Given the description of an element on the screen output the (x, y) to click on. 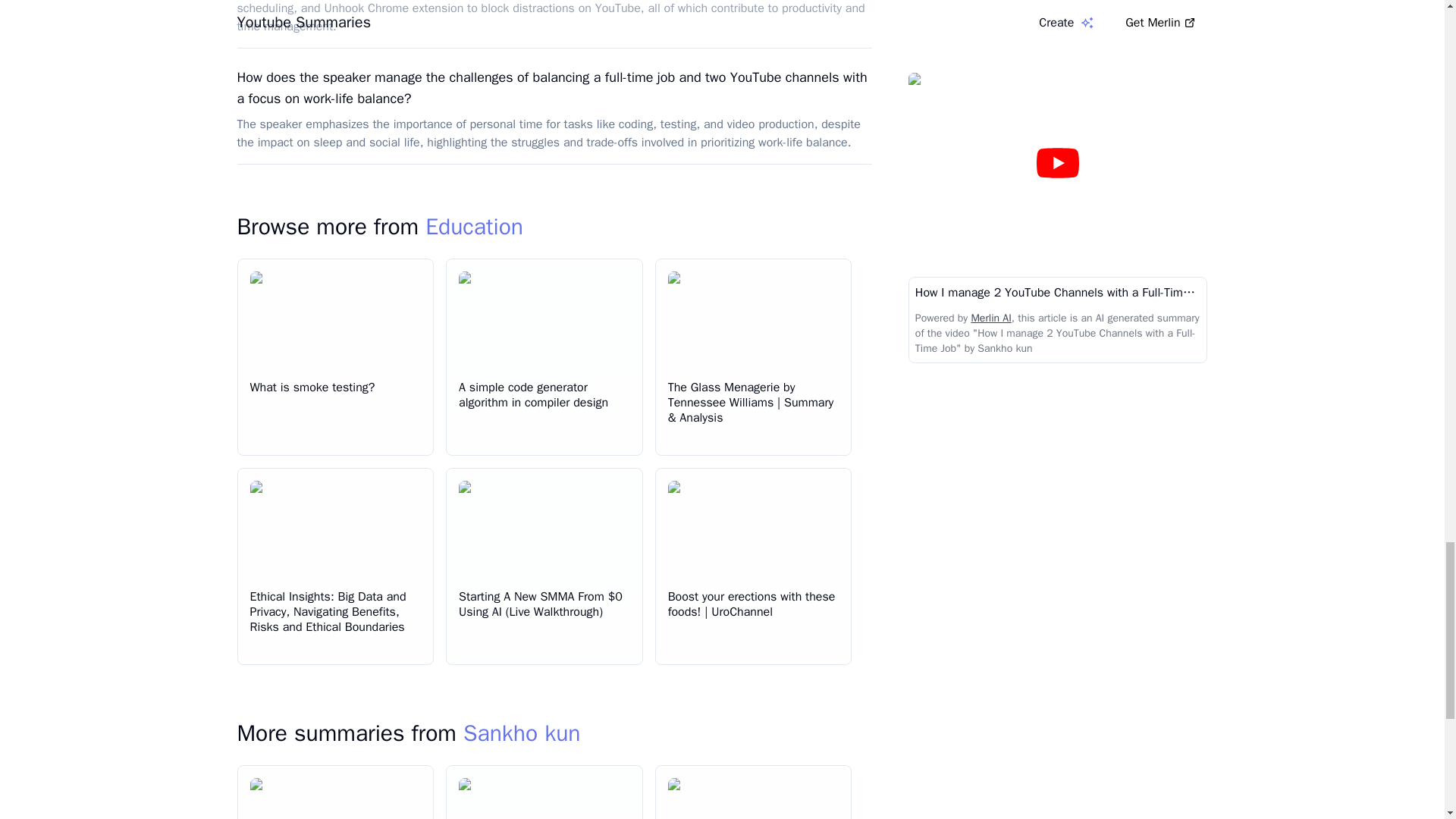
Sankho kun (521, 733)
What is smoke testing? (312, 387)
Education (473, 226)
A simple code generator algorithm in compiler design (533, 395)
